Given the description of an element on the screen output the (x, y) to click on. 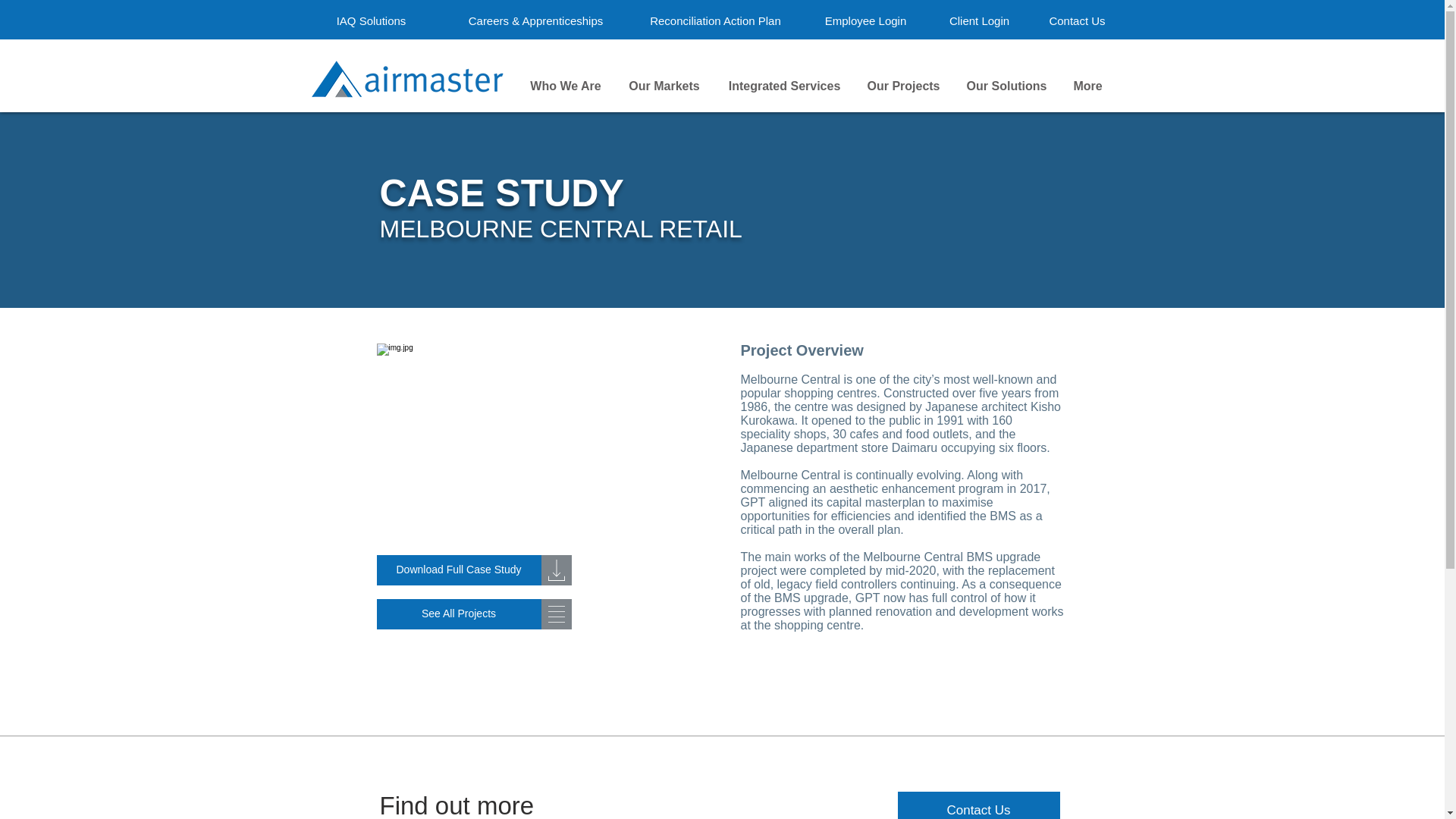
Contact Us (1077, 20)
Reconciliation Action Plan (715, 20)
Who We Are (564, 86)
Employee Login (865, 20)
IAQ Solutions (370, 20)
Our Projects (902, 86)
Our Markets (664, 86)
Client Login (979, 20)
Integrated Services (783, 86)
